Given the description of an element on the screen output the (x, y) to click on. 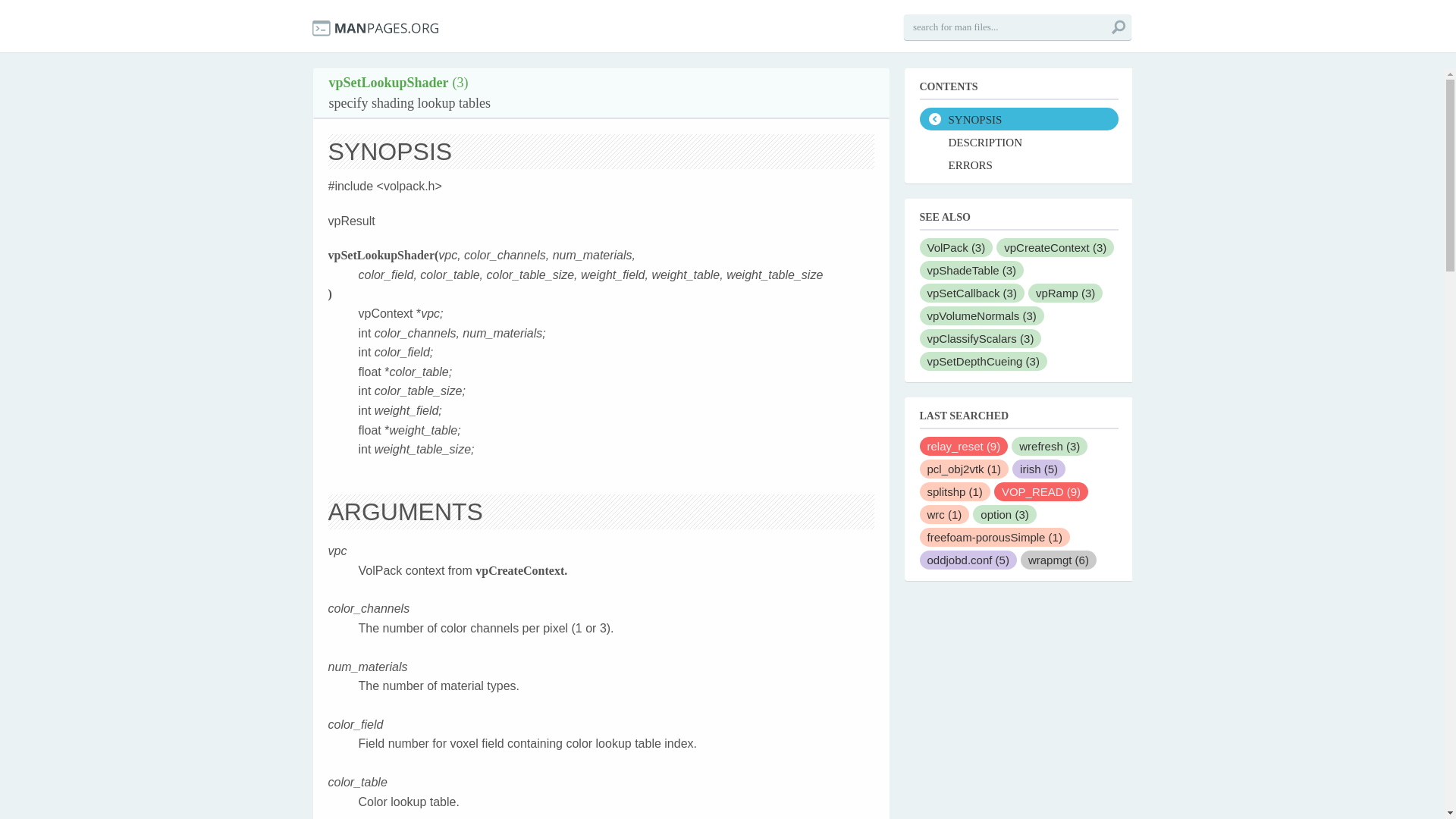
description (1018, 141)
synopsis (1018, 118)
SYNOPSIS (1018, 118)
DESCRIPTION (1018, 141)
ERRORS (1018, 164)
errors (1018, 164)
